Given the description of an element on the screen output the (x, y) to click on. 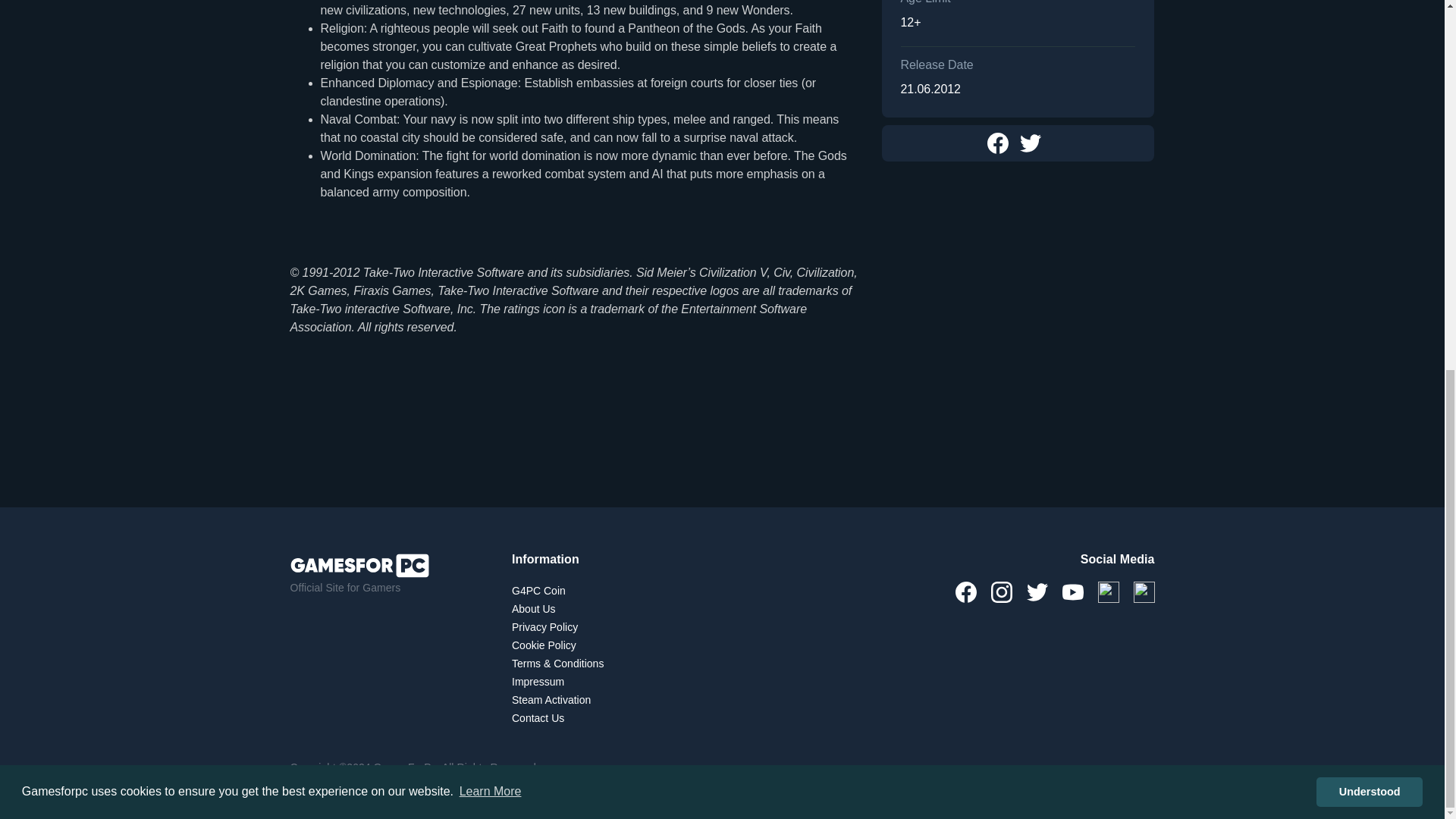
Learn More (489, 119)
Contact Us (538, 718)
Impressum (538, 681)
G4PC Coin (539, 590)
Understood (1369, 120)
About Us (534, 608)
Cookie Policy (544, 645)
Steam Activation (551, 700)
Privacy Policy (545, 627)
